Given the description of an element on the screen output the (x, y) to click on. 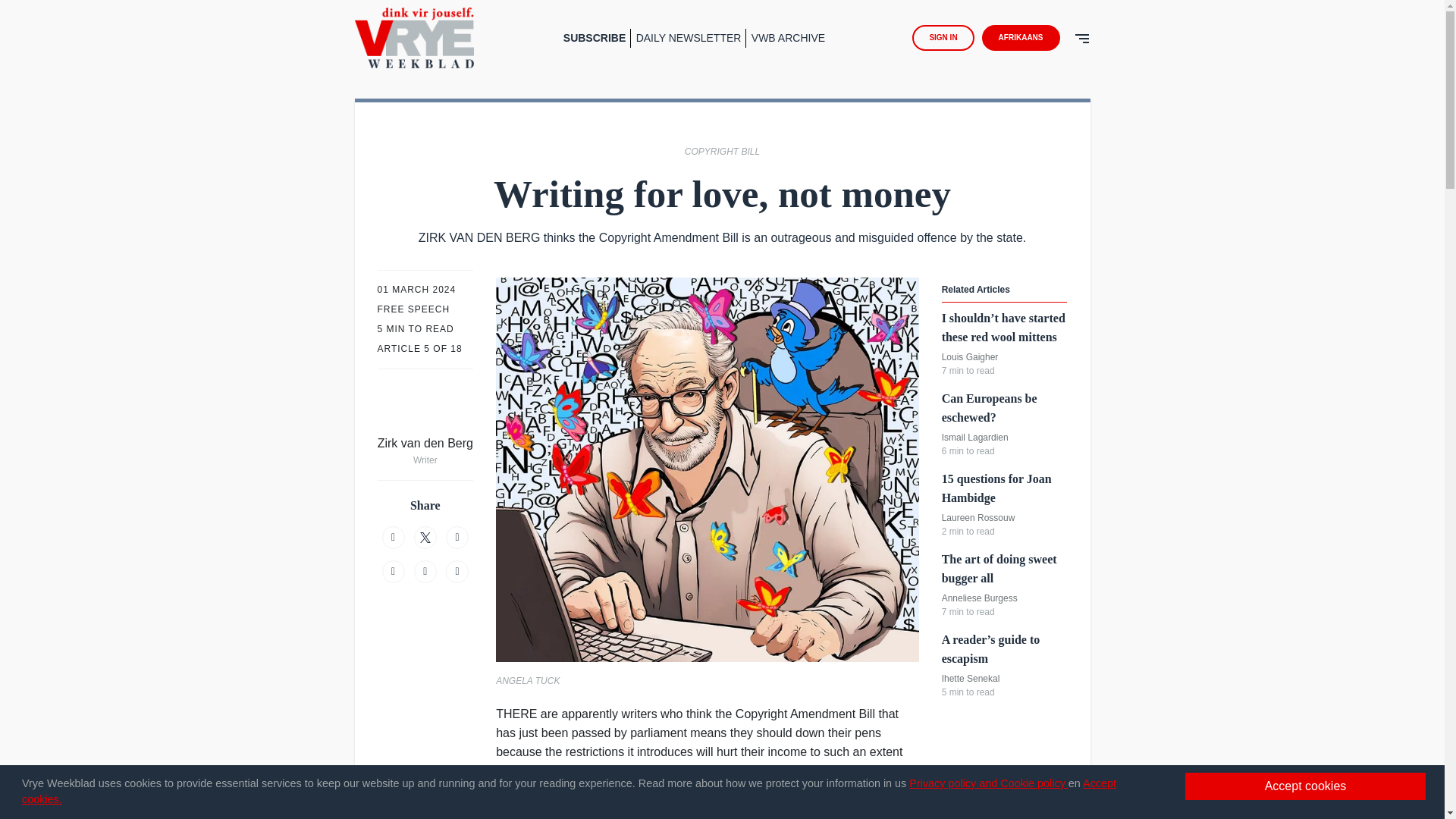
AFRIKAANS (1024, 37)
SUBSCRIBE (596, 37)
AFRIKAANS (1020, 37)
SIGN IN (946, 37)
DAILY NEWSLETTER (691, 37)
VWB ARCHIVE (788, 37)
SIGN IN (943, 37)
Writing for love, not money (415, 38)
